Given the description of an element on the screen output the (x, y) to click on. 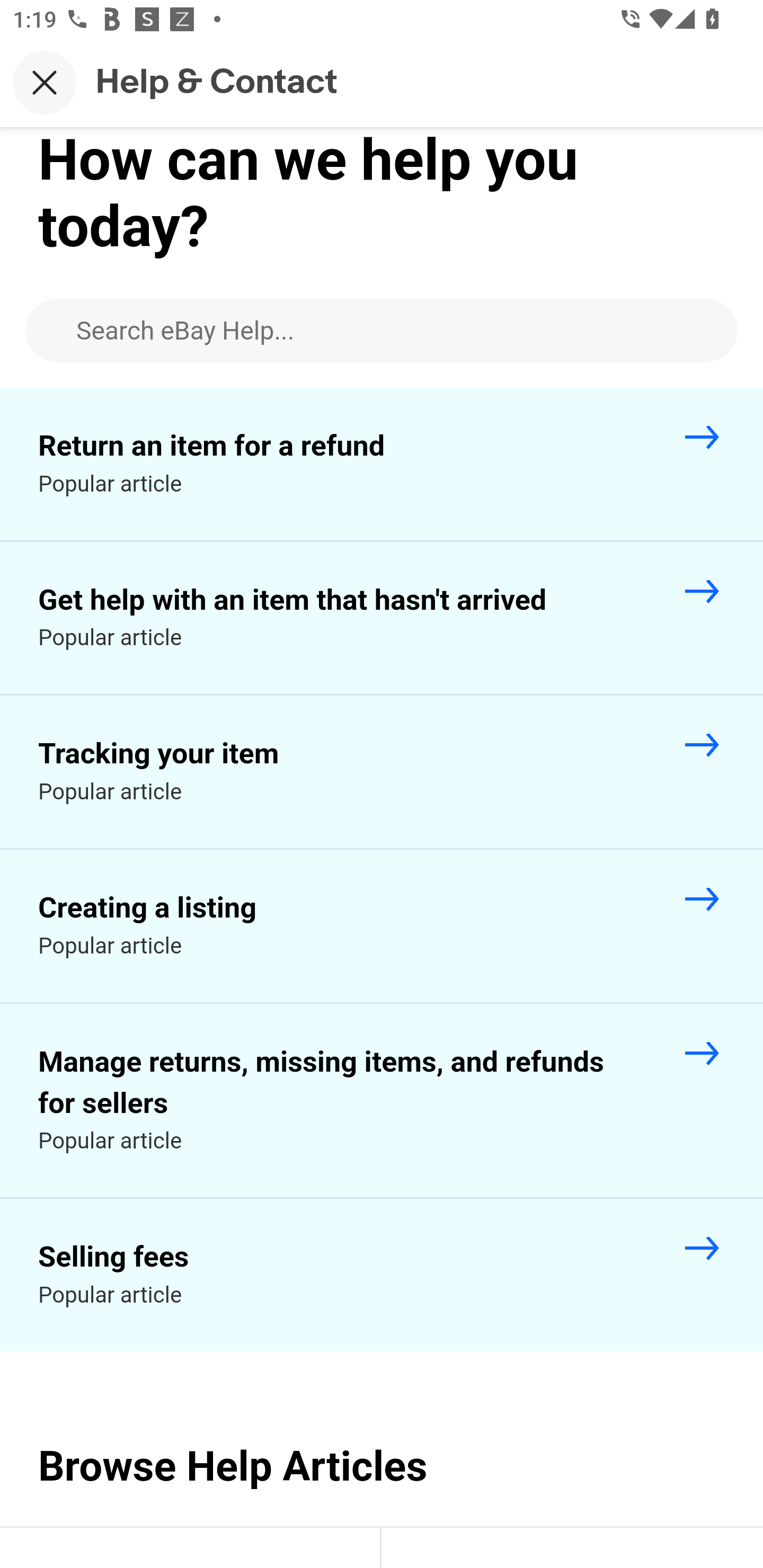
Close (44, 82)
